Given the description of an element on the screen output the (x, y) to click on. 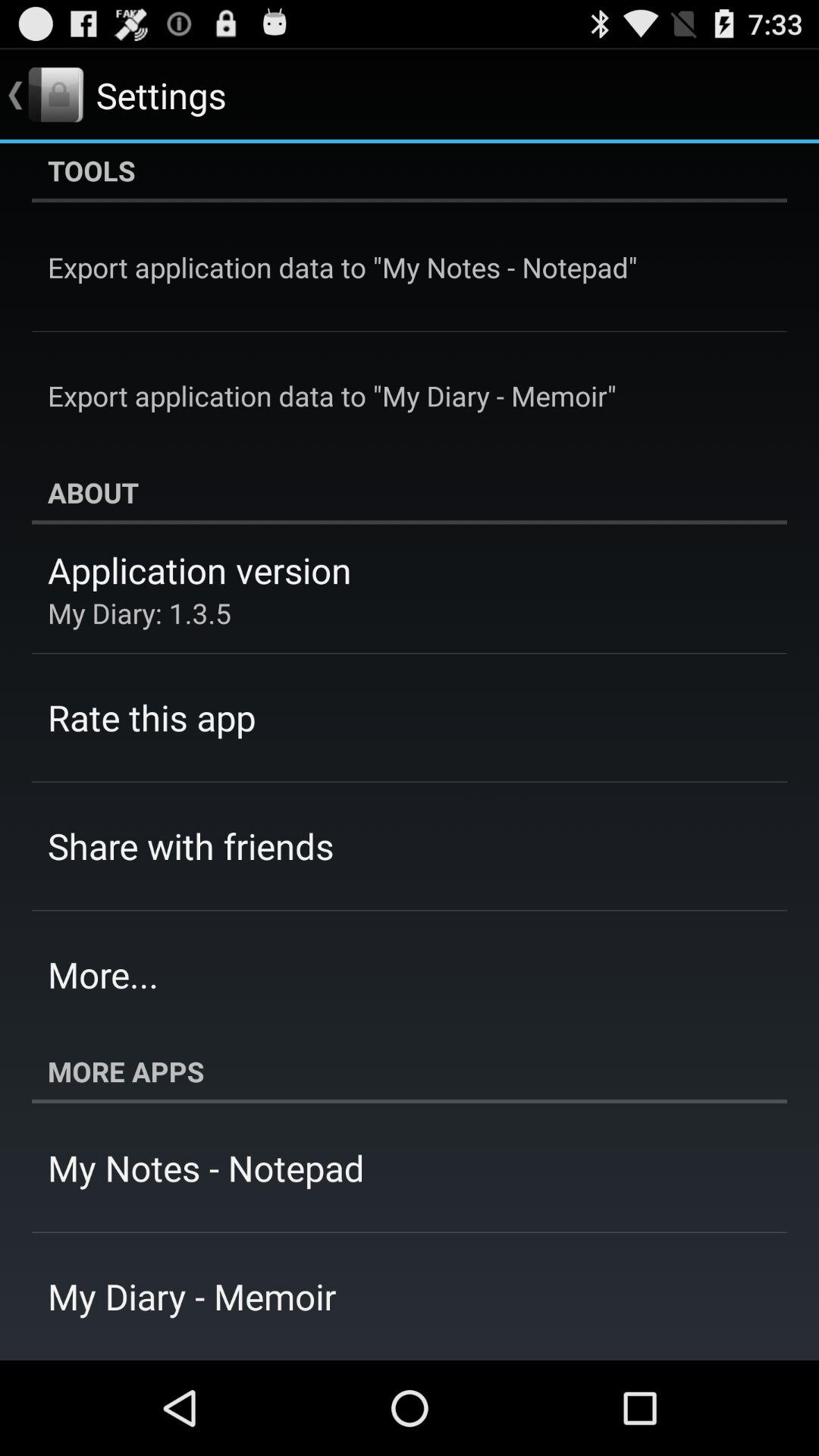
click the item below the export application data (409, 492)
